Given the description of an element on the screen output the (x, y) to click on. 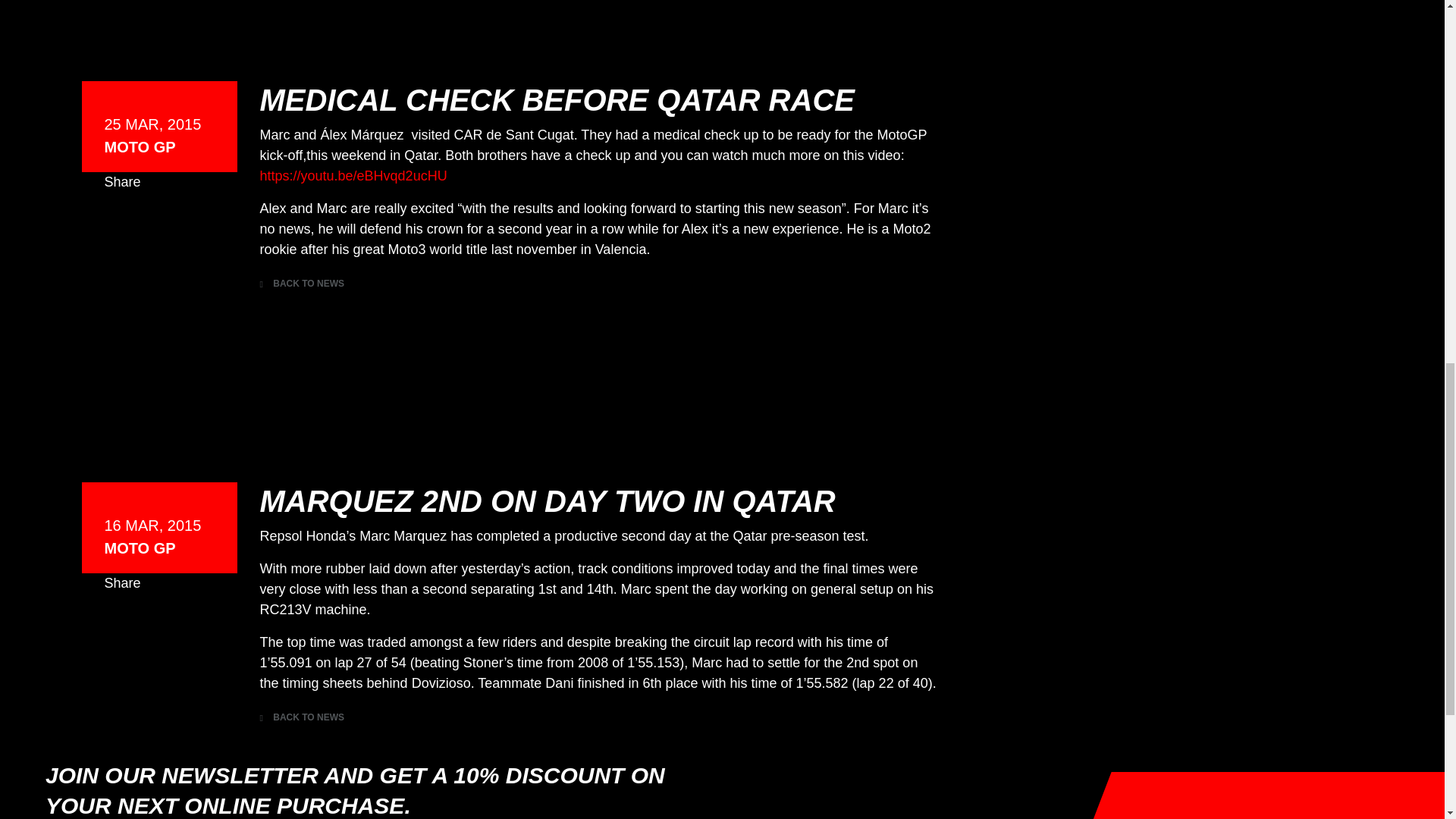
BACK TO NEWS (301, 716)
Share on Facebook (116, 625)
Share on Twitter (146, 224)
Share on WhatsApp (178, 625)
Share on Twitter (146, 625)
BACK TO NEWS (301, 283)
Share on WhatsApp (178, 224)
Share on Facebook (116, 224)
